Given the description of an element on the screen output the (x, y) to click on. 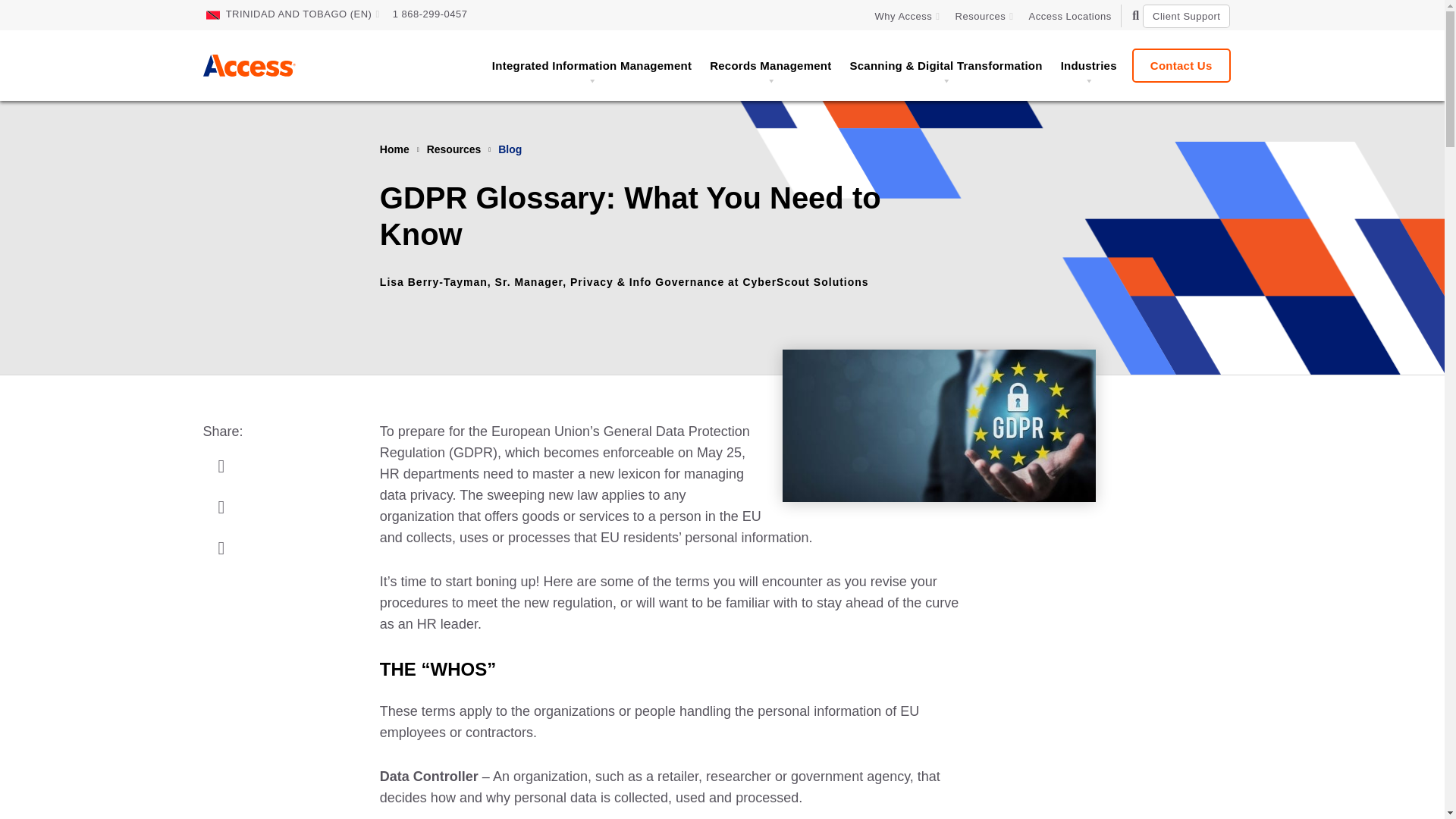
Resources (984, 16)
Integrated Information Management (591, 65)
Access Locations (1069, 16)
Why Access (906, 16)
Records Management (770, 65)
Resources (984, 16)
Client Support (1186, 15)
1 868-299-0457 (430, 13)
Skip to Main Content (76, 19)
Why Access (906, 16)
